Given the description of an element on the screen output the (x, y) to click on. 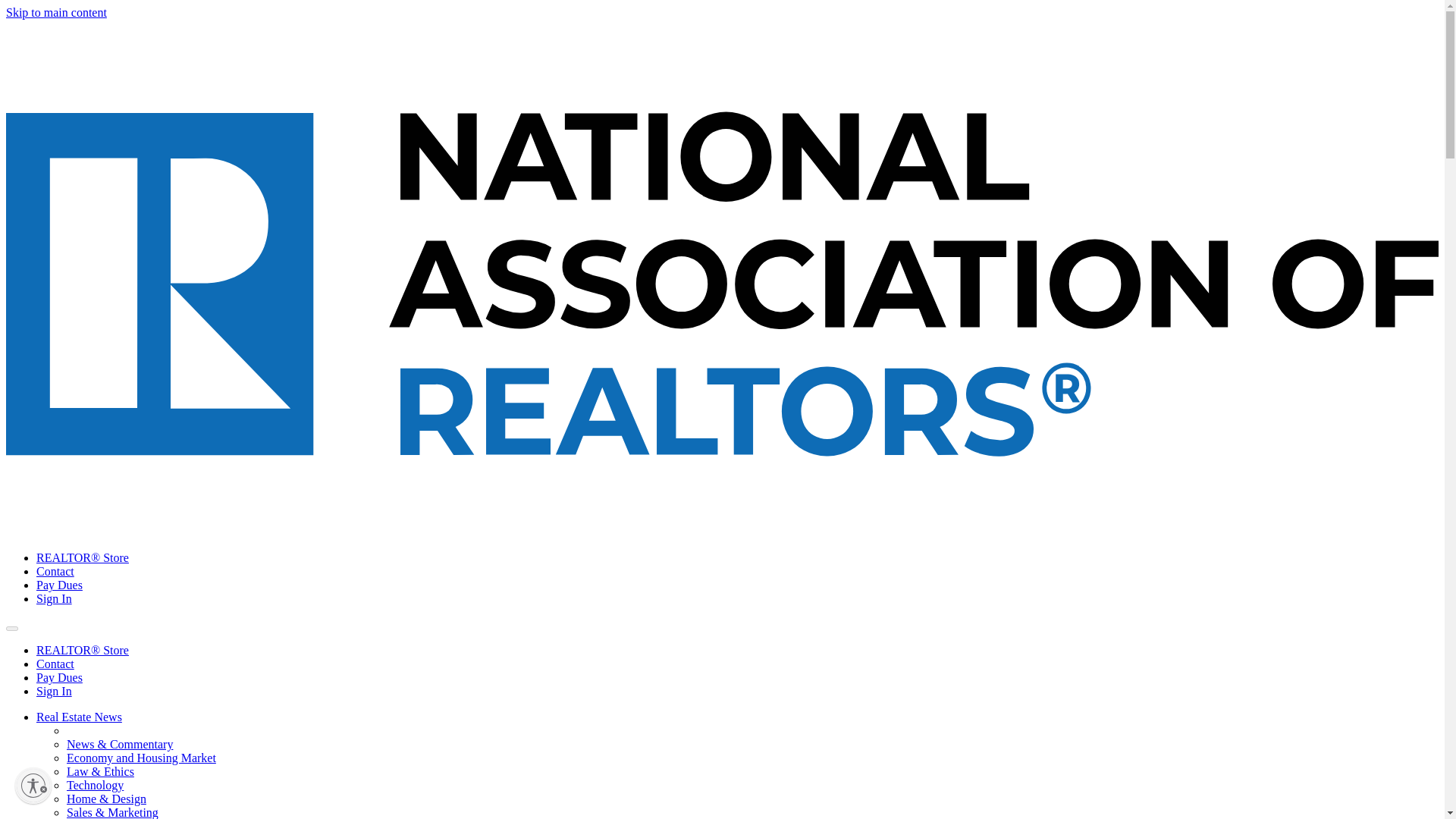
Skip to main content (55, 11)
Enable accessibility (32, 785)
